Given the description of an element on the screen output the (x, y) to click on. 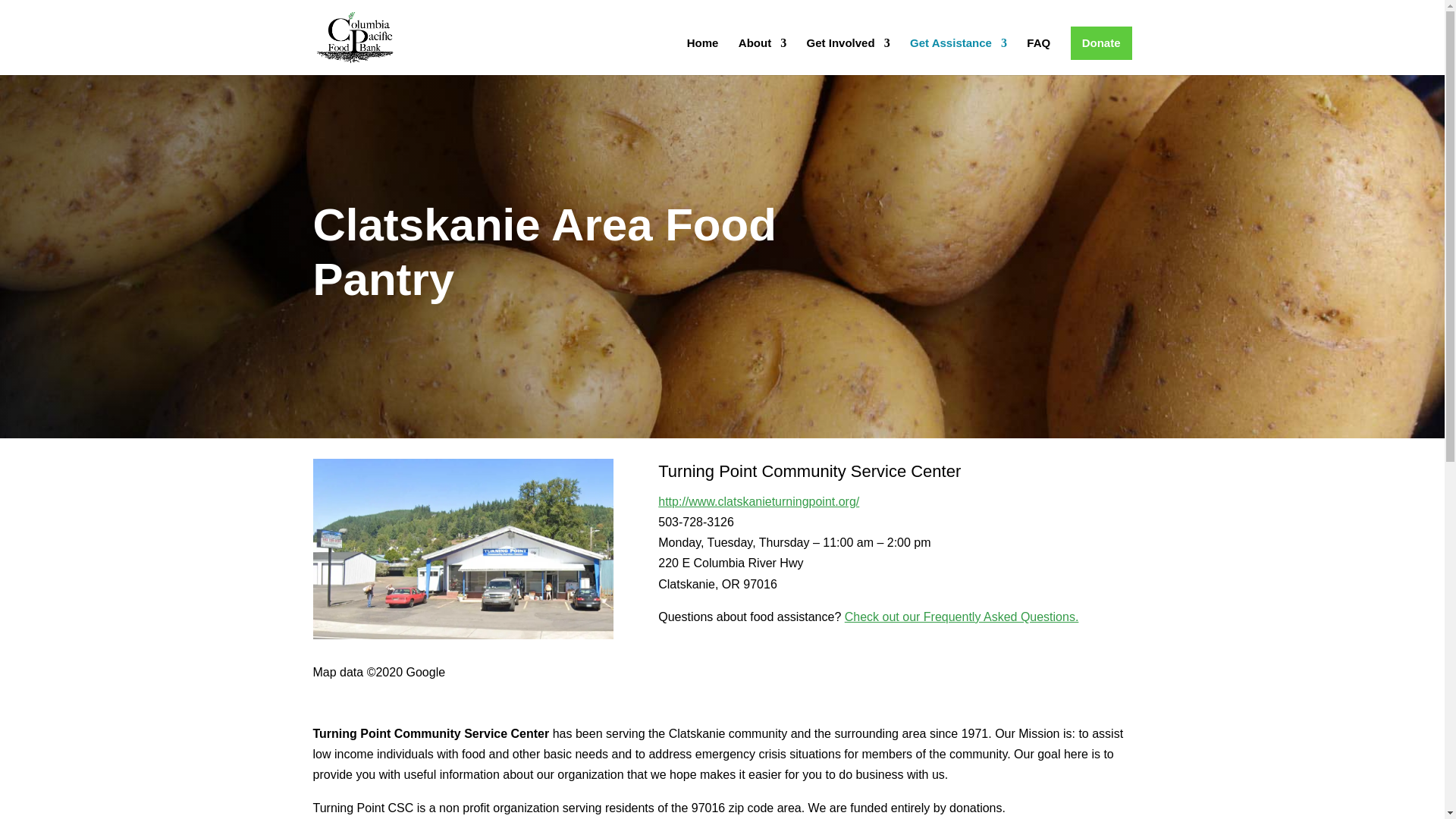
Get Involved (847, 56)
Get Assistance (958, 56)
Donate (1101, 42)
turning-point-community-center (462, 548)
About (762, 56)
